Given the description of an element on the screen output the (x, y) to click on. 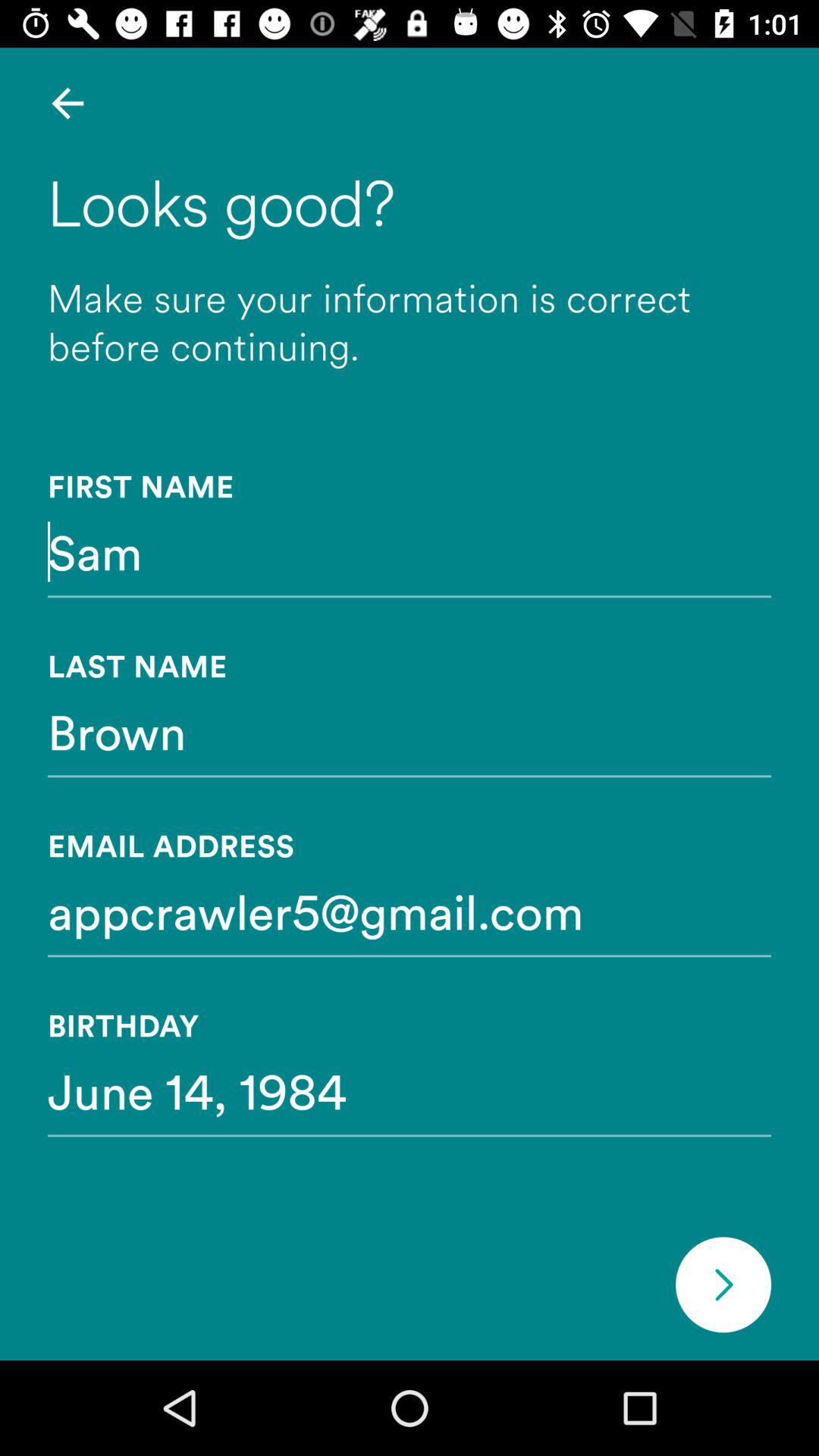
proceed into next section (723, 1284)
